Given the description of an element on the screen output the (x, y) to click on. 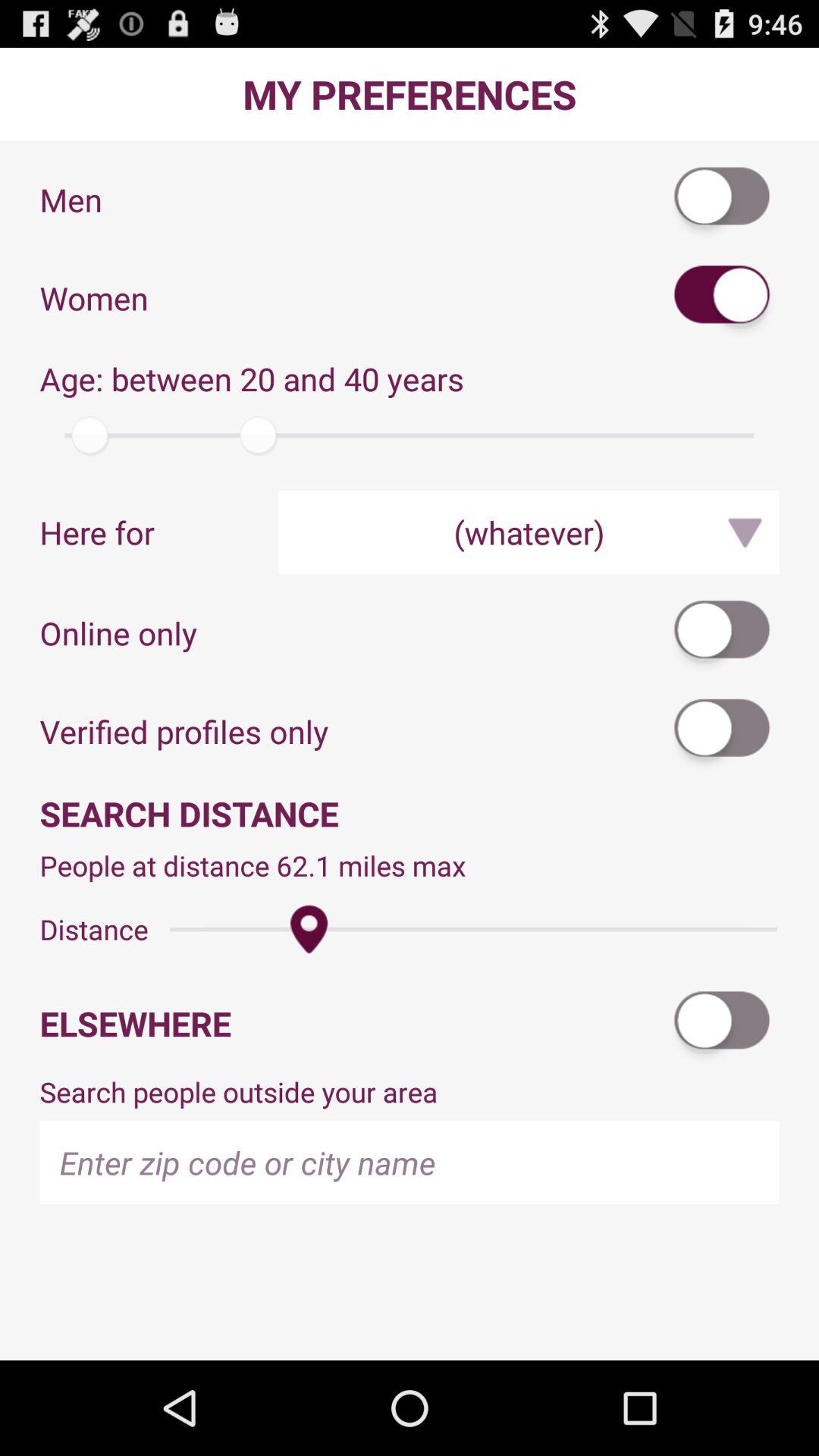
press elsewhere app (352, 1023)
